Given the description of an element on the screen output the (x, y) to click on. 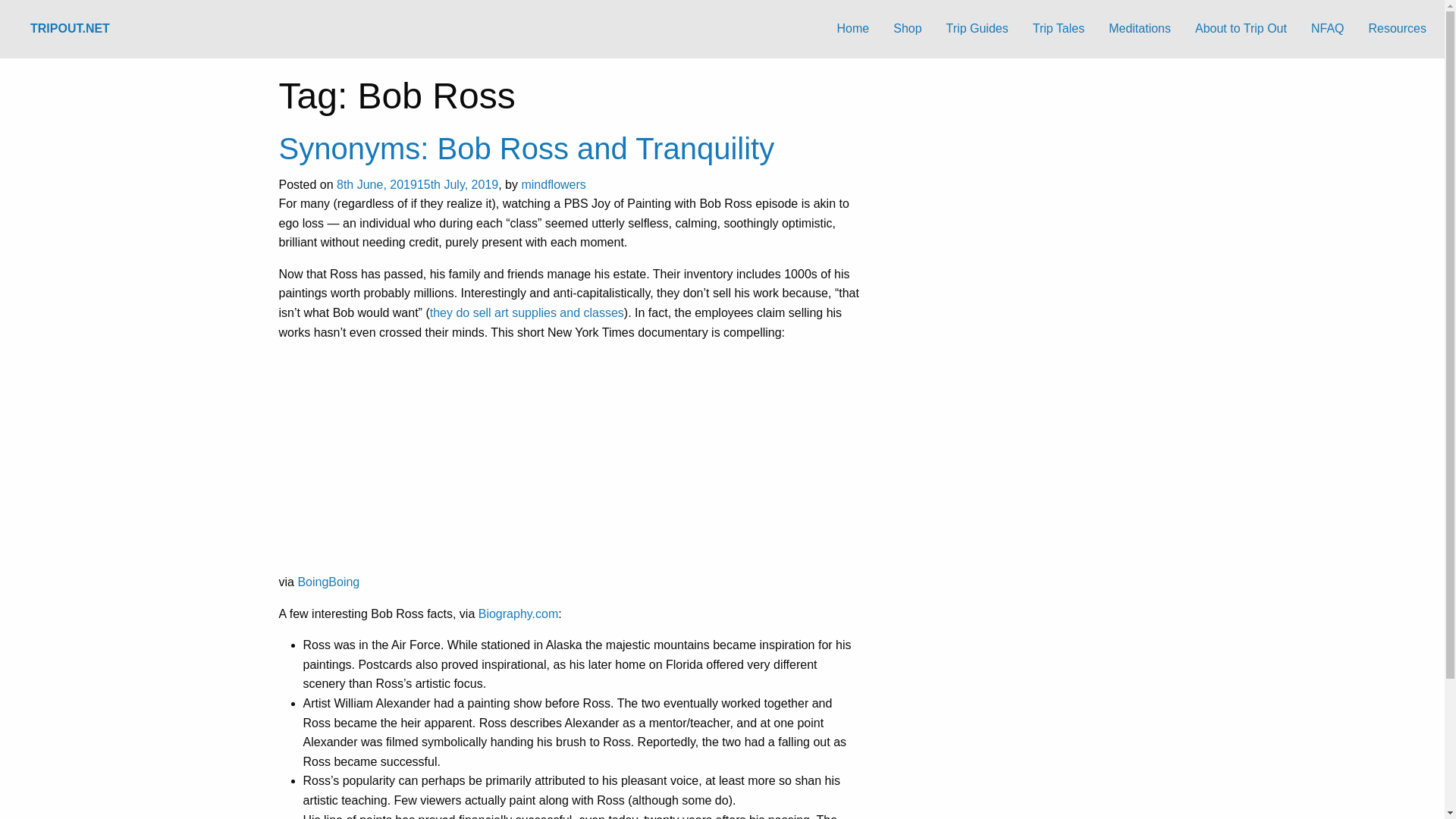
TRIPOUT.NET (69, 28)
Meditations (1139, 28)
8th June, 201915th July, 2019 (416, 184)
Where Are All the Bob Ross Paintings? We Found Them. (468, 460)
they do sell art supplies and classes (526, 312)
mindflowers (553, 184)
About to Trip Out (1240, 28)
Trip Guides (977, 28)
Resources (1397, 28)
BoingBoing (328, 581)
